Given the description of an element on the screen output the (x, y) to click on. 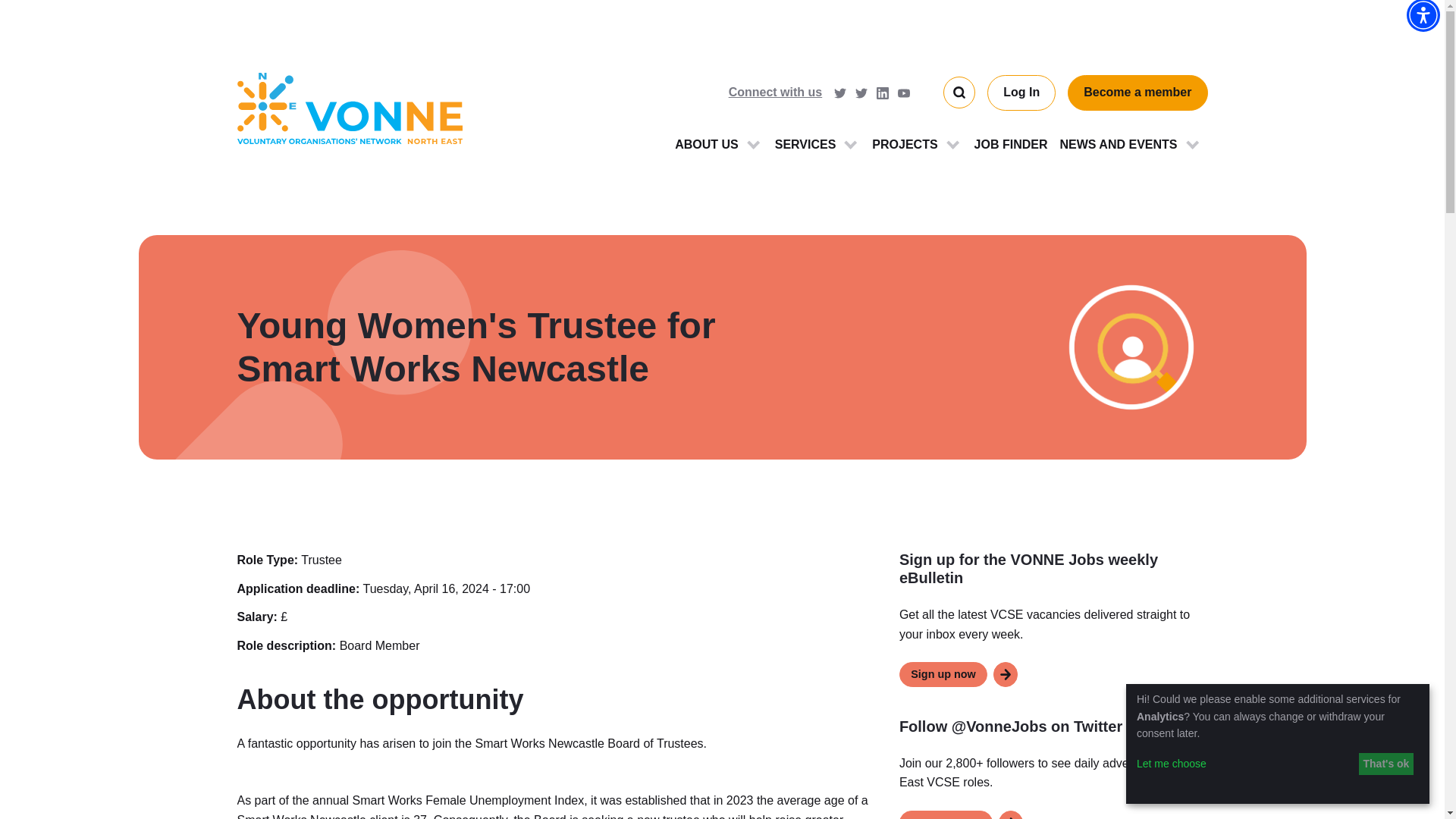
Accessibility Menu (1422, 15)
Log In (1021, 92)
SERVICES (817, 144)
Connect with us (778, 92)
ABOUT US (718, 144)
Become a member (1137, 92)
